Given the description of an element on the screen output the (x, y) to click on. 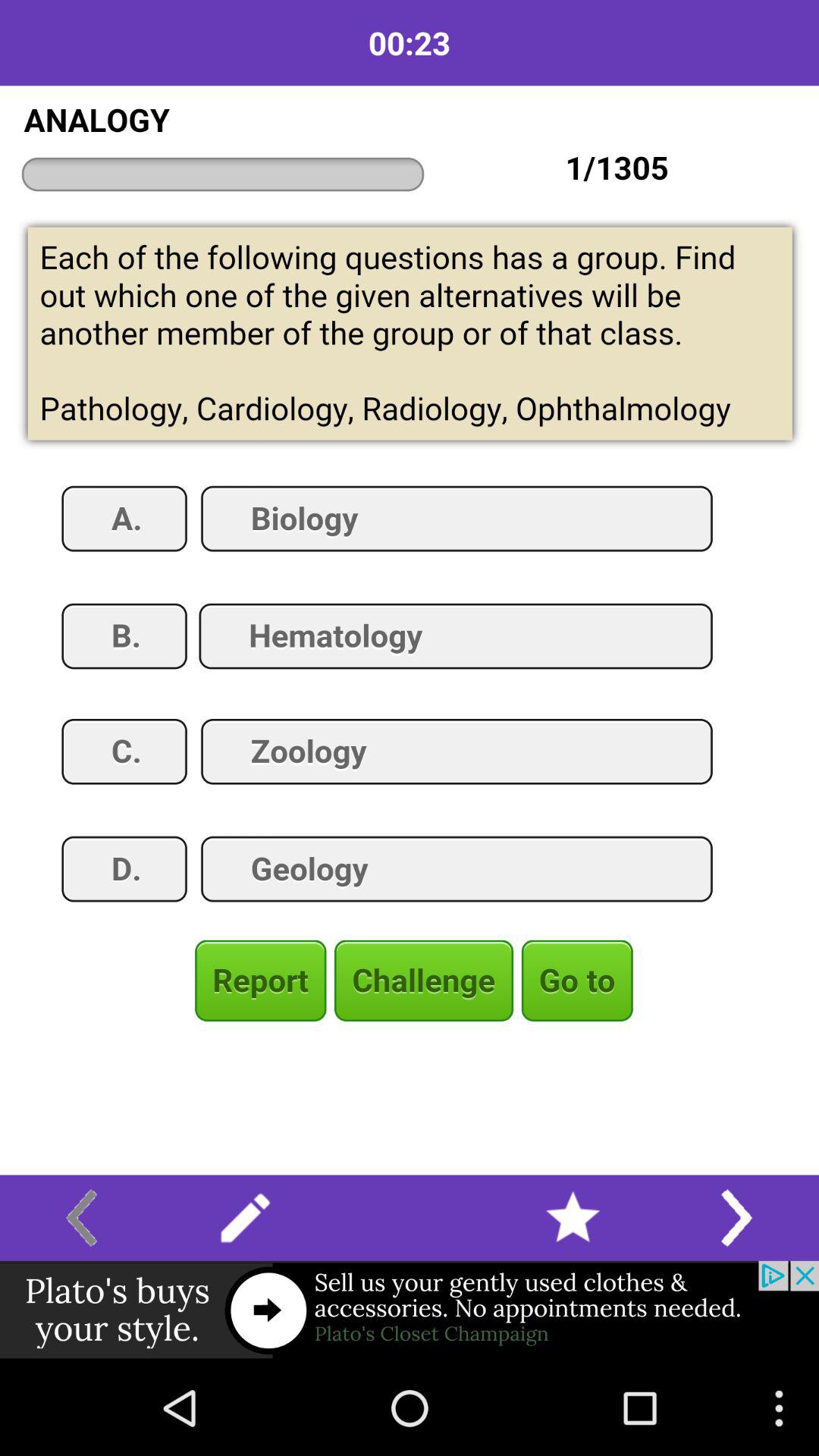
open favourites (572, 1217)
